Given the description of an element on the screen output the (x, y) to click on. 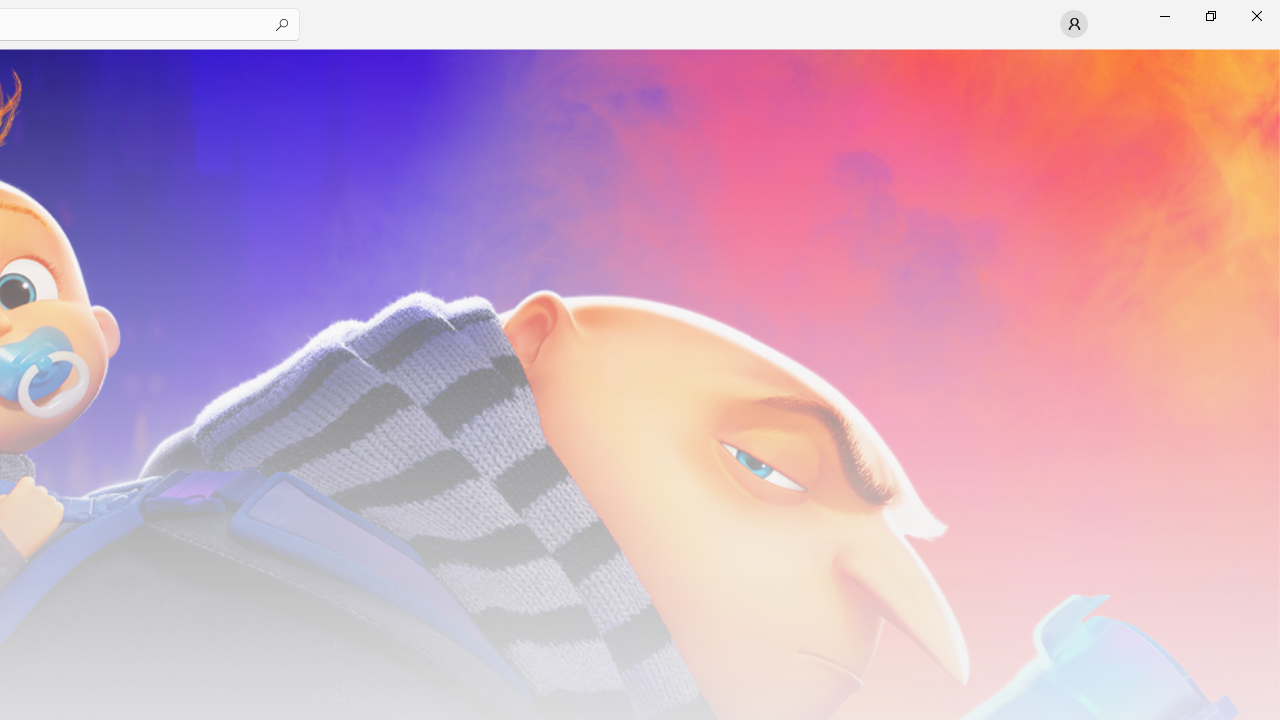
User profile (1073, 24)
Restore Microsoft Store (1210, 15)
Close Microsoft Store (1256, 15)
Minimize Microsoft Store (1164, 15)
